Given the description of an element on the screen output the (x, y) to click on. 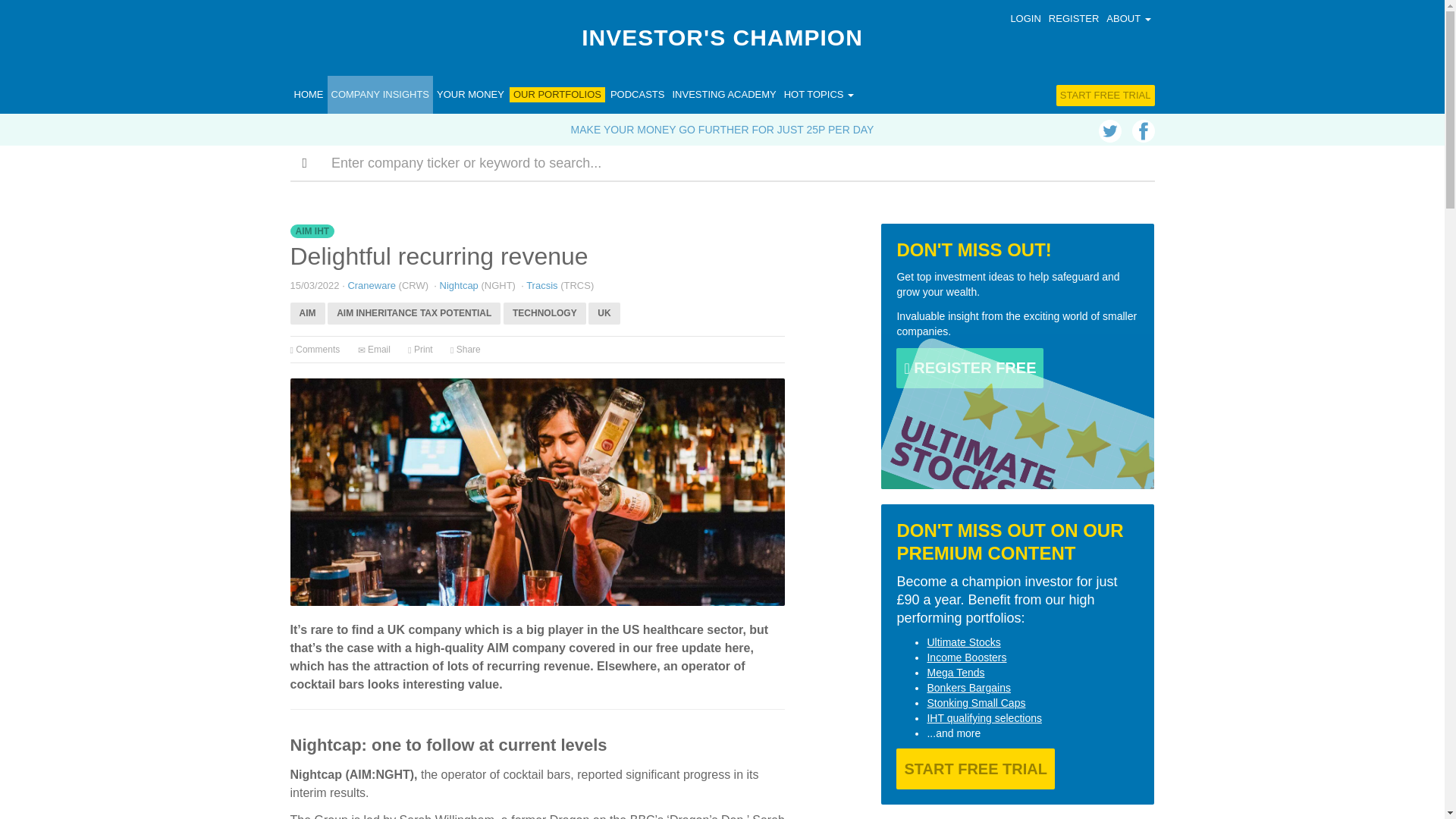
START FREE TRIAL (1105, 95)
COMPANY INSIGHTS (380, 94)
HOME (307, 94)
Craneware (371, 285)
YOUR MONEY (470, 94)
ABOUT (1128, 18)
AIM IHT (311, 232)
INVESTOR'S CHAMPION (721, 38)
REGISTER (1073, 18)
HOT TOPICS (818, 94)
